Given the description of an element on the screen output the (x, y) to click on. 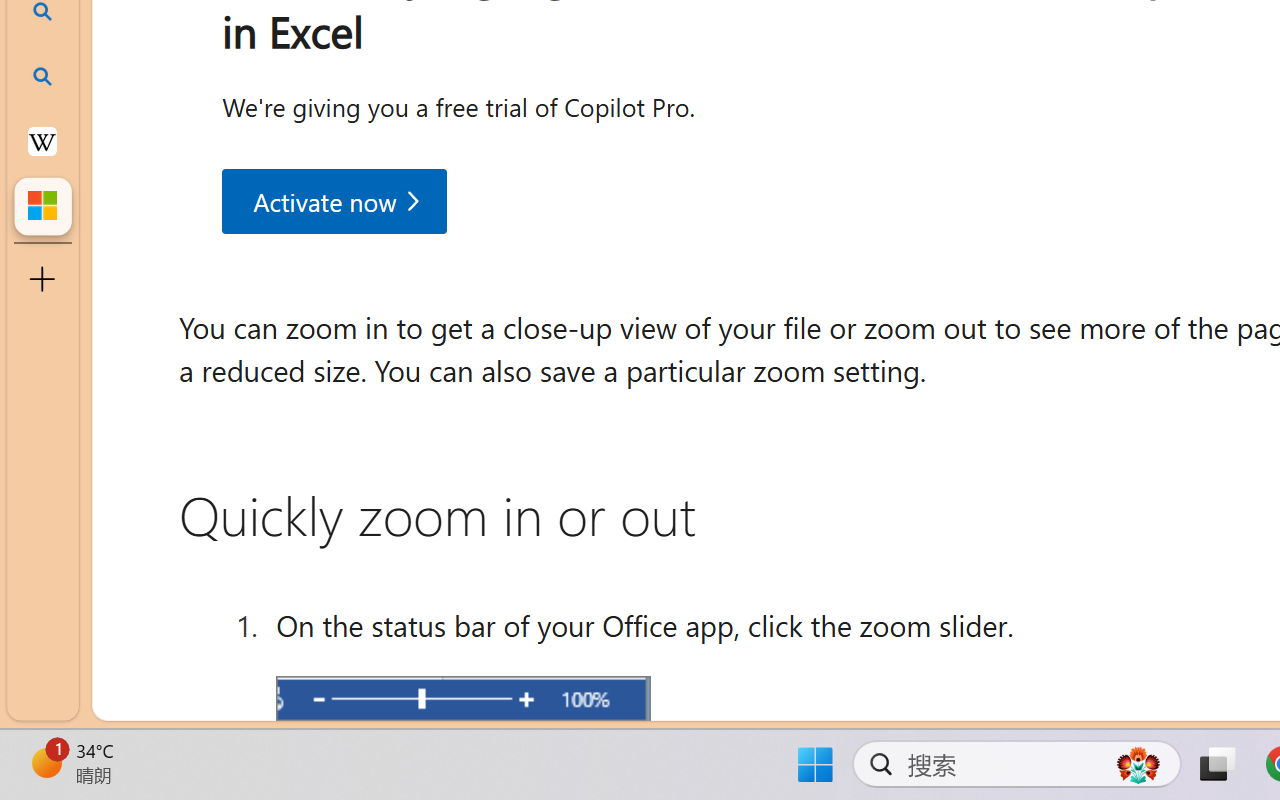
Zoom slider (462, 701)
Earth - Wikipedia (42, 140)
